Given the description of an element on the screen output the (x, y) to click on. 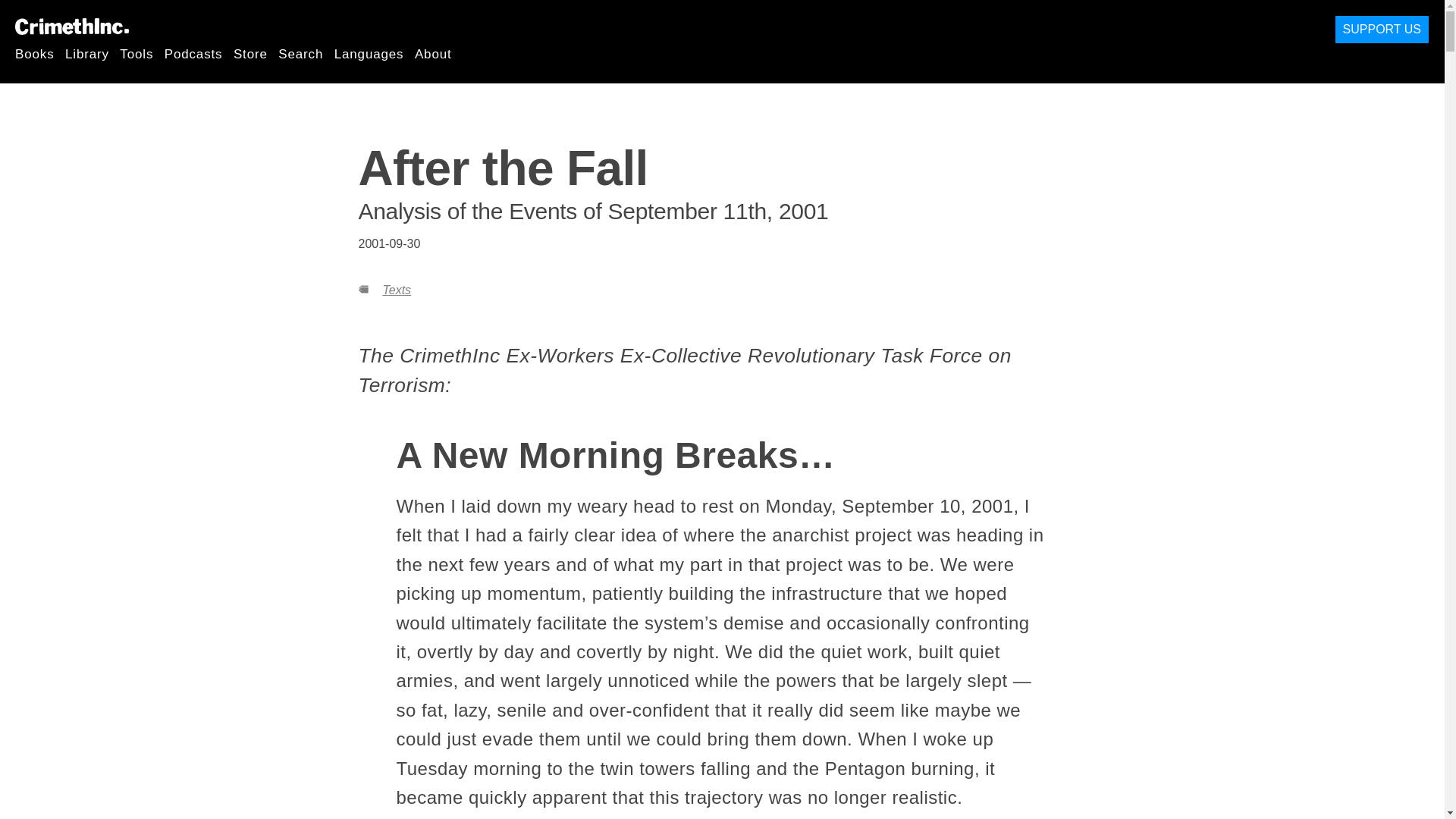
Books (34, 53)
Tools (135, 53)
Store (249, 53)
Search (300, 53)
SUPPORT US (1382, 29)
Languages (369, 53)
Library (87, 53)
CrimethInc. (71, 26)
Podcasts (193, 53)
Texts (395, 289)
